Given the description of an element on the screen output the (x, y) to click on. 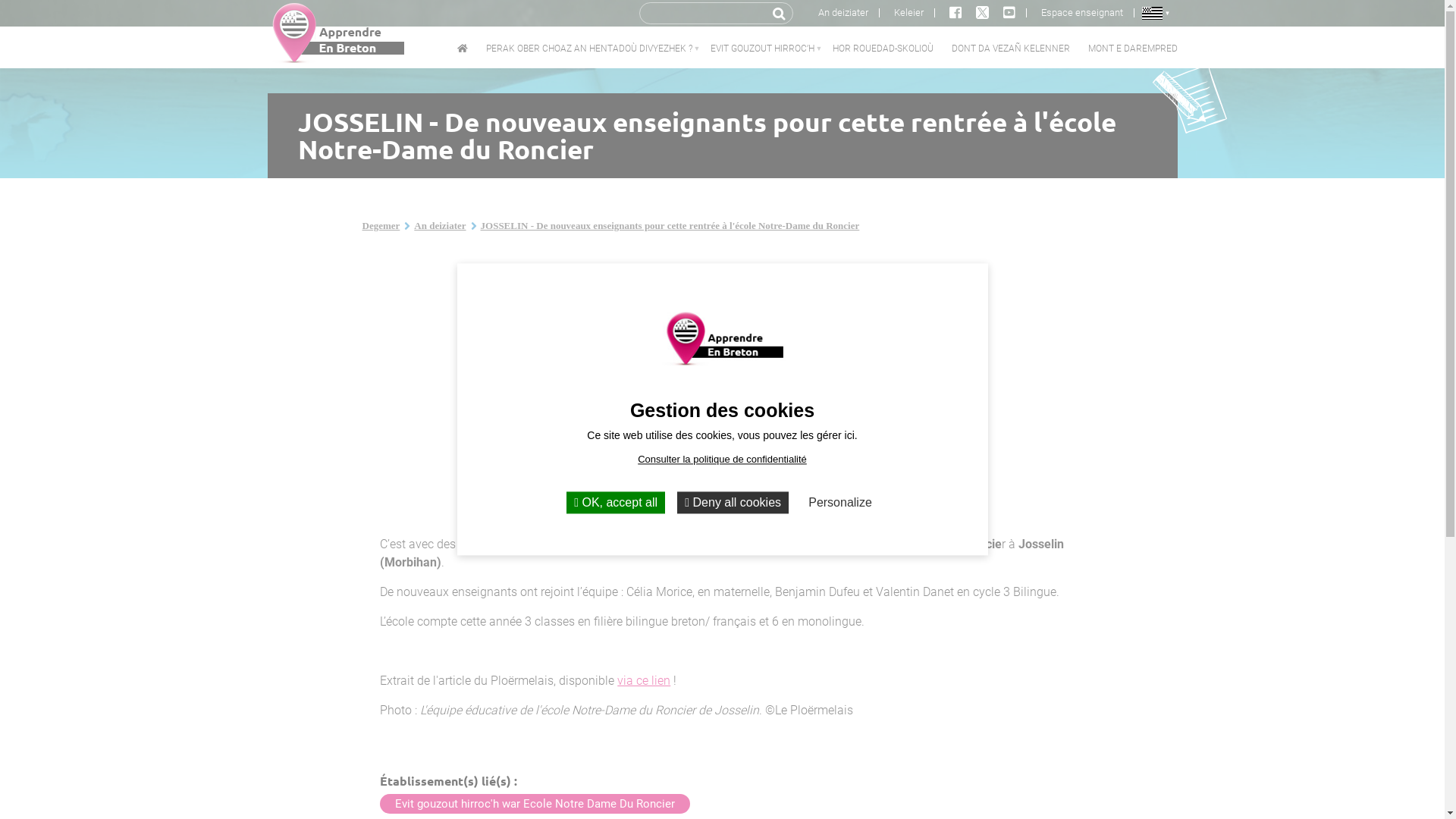
OK, accept all Element type: text (615, 502)
An deiziater Element type: text (842, 12)
Evit gouzout hirroc'h war Ecole Notre Dame Du Roncier Element type: text (534, 803)
An deiziater Element type: text (439, 225)
Espace enseignant Element type: text (1081, 12)
Keleier Element type: text (908, 12)
Skip to main content Element type: text (0, 0)
Personalize Element type: text (839, 502)
via ce lien Element type: text (643, 680)
Enter the terms you wish to search for. Element type: hover (705, 11)
Enklask Element type: text (779, 13)
MONT E DAREMPRED Element type: text (1131, 52)
Degemer Element type: text (381, 225)
Deny all cookies Element type: text (732, 502)
